Given the description of an element on the screen output the (x, y) to click on. 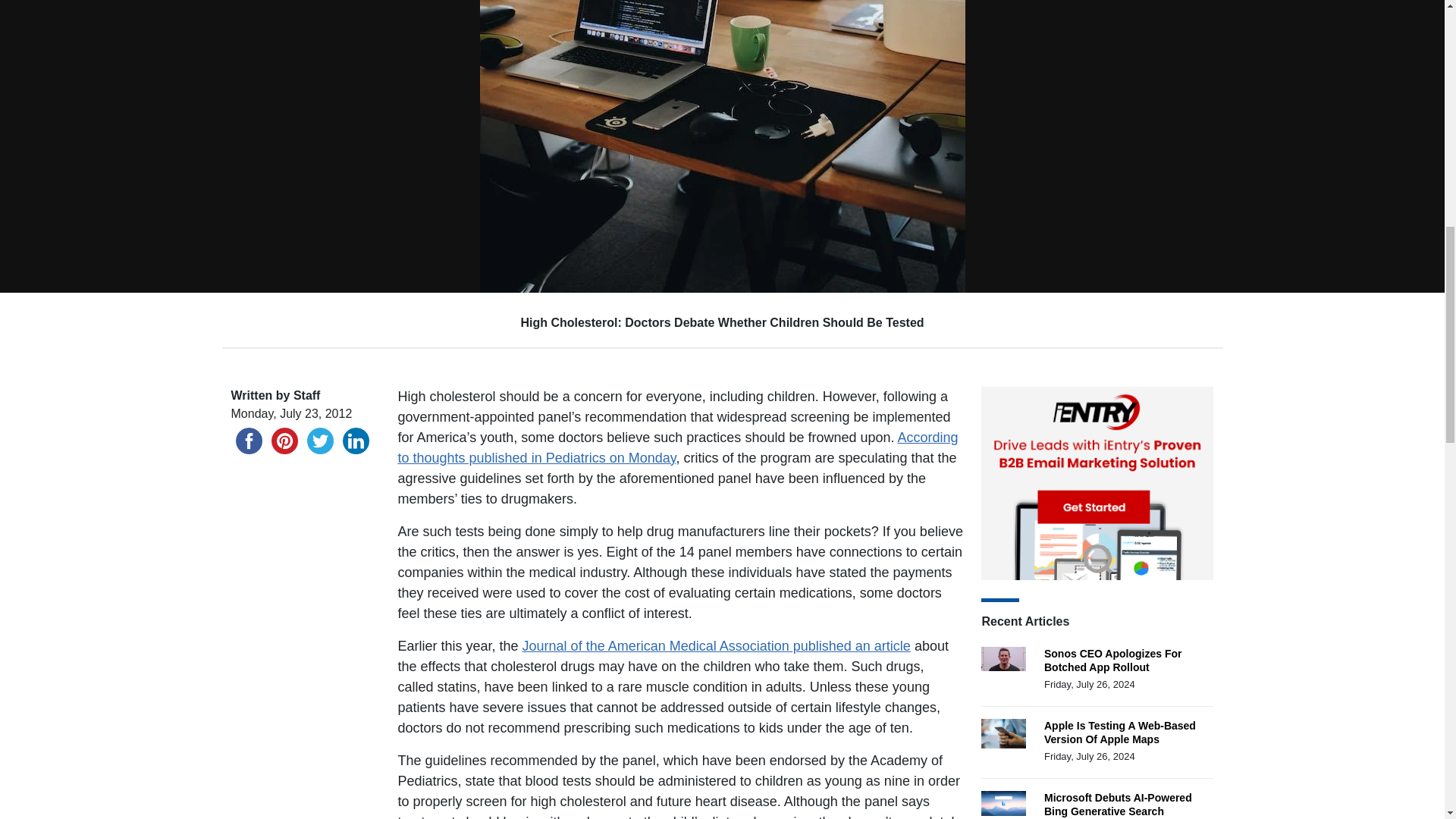
linkedin (355, 440)
twitter (319, 440)
pinterest (284, 440)
facebook (248, 440)
